Given the description of an element on the screen output the (x, y) to click on. 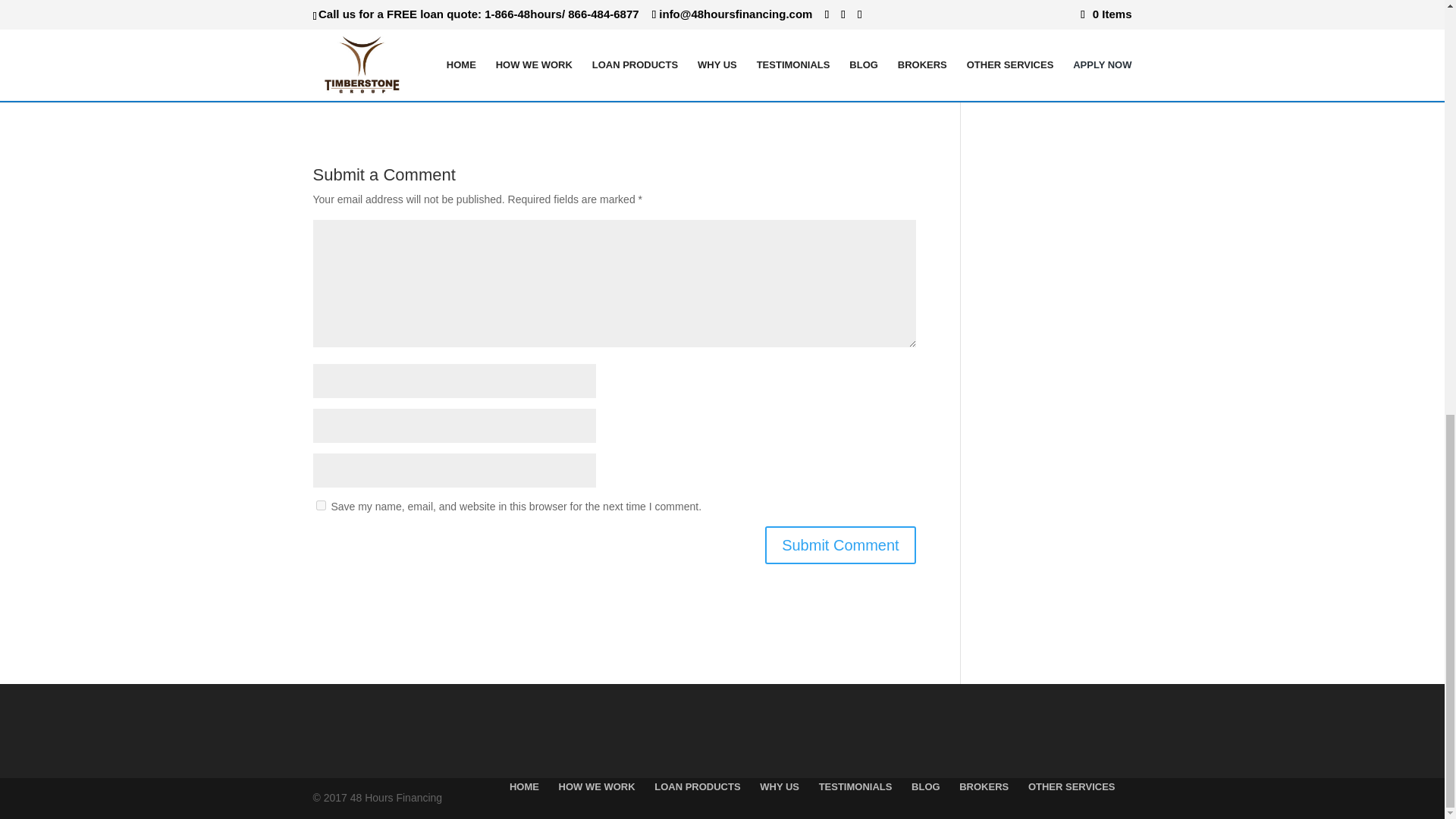
Submit Comment (840, 545)
WHY US (779, 786)
HOW WE WORK (596, 786)
BLOG (925, 786)
LOAN PRODUCTS (696, 786)
TESTIMONIALS (855, 786)
HOME (523, 786)
yes (319, 505)
Submit Comment (840, 545)
BROKERS (984, 786)
